Given the description of an element on the screen output the (x, y) to click on. 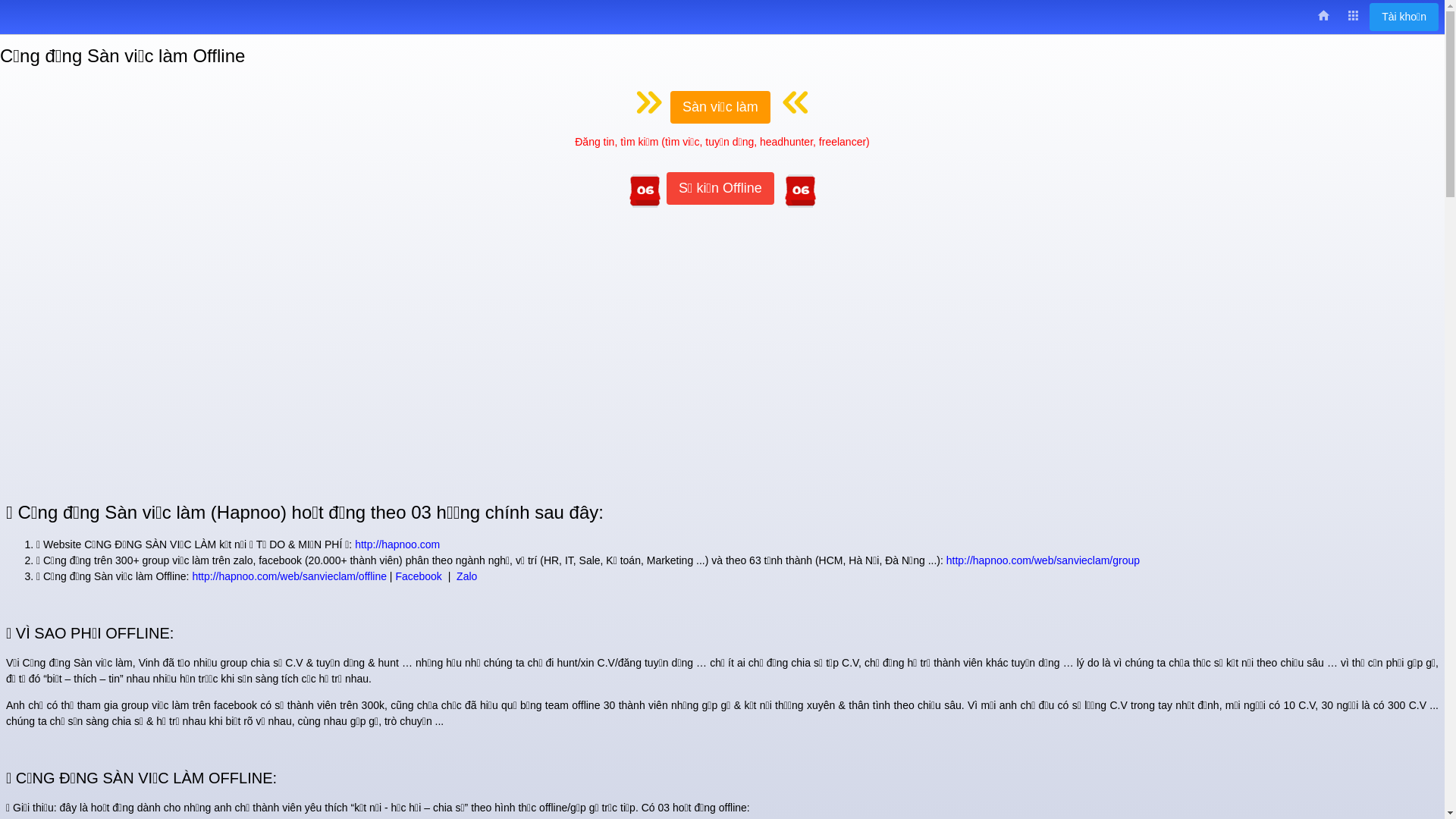
Zalo Element type: text (466, 576)
Facebook Element type: text (418, 576)
apps Element type: text (1352, 16)
http://hapnoo.com/web/sanvieclam/group Element type: text (1042, 560)
home Element type: text (1323, 16)
http://hapnoo.com Element type: text (396, 544)
http://hapnoo.com/web/sanvieclam/offline Element type: text (288, 576)
